Given the description of an element on the screen output the (x, y) to click on. 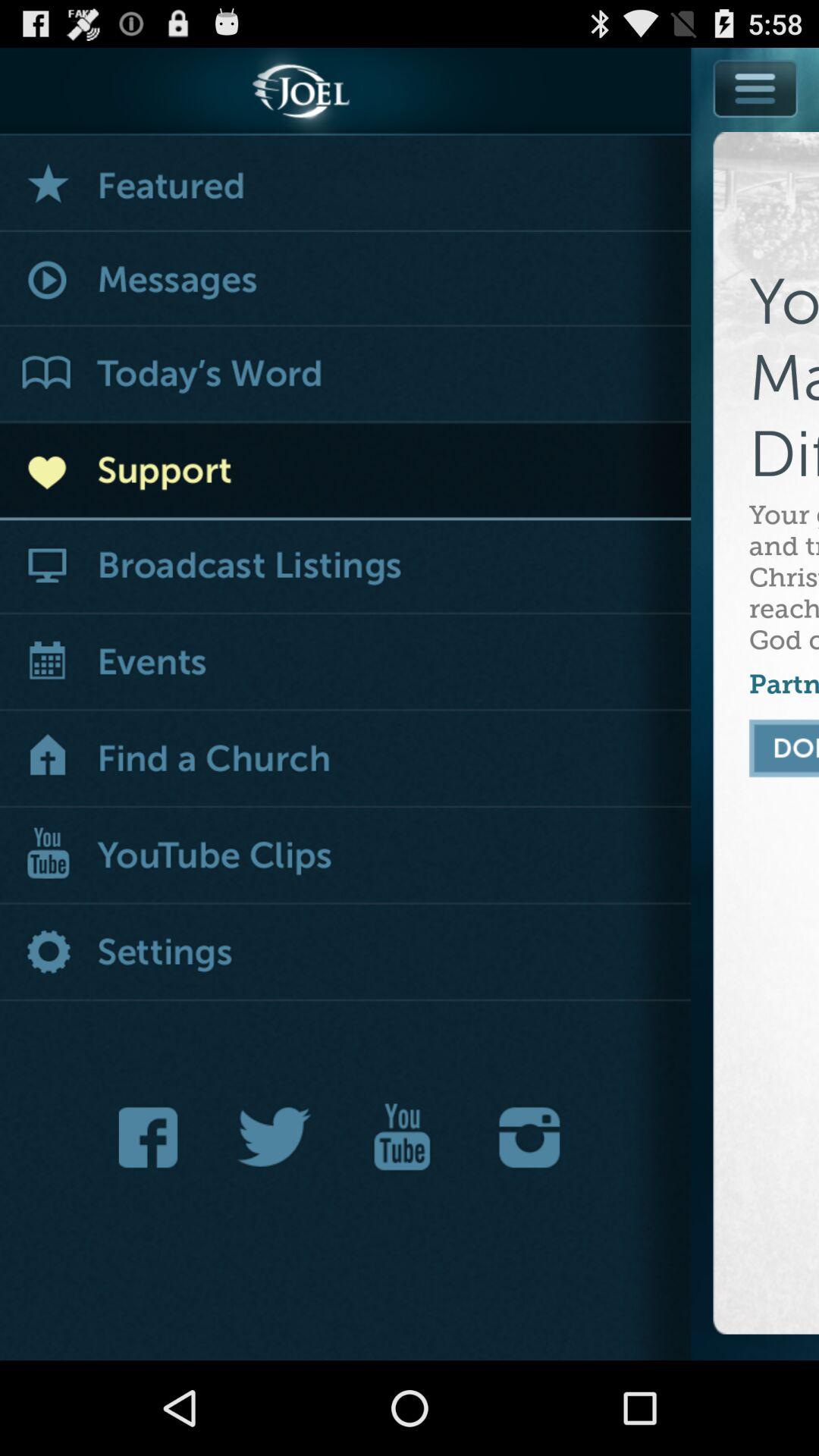
press to check featured (345, 183)
